Given the description of an element on the screen output the (x, y) to click on. 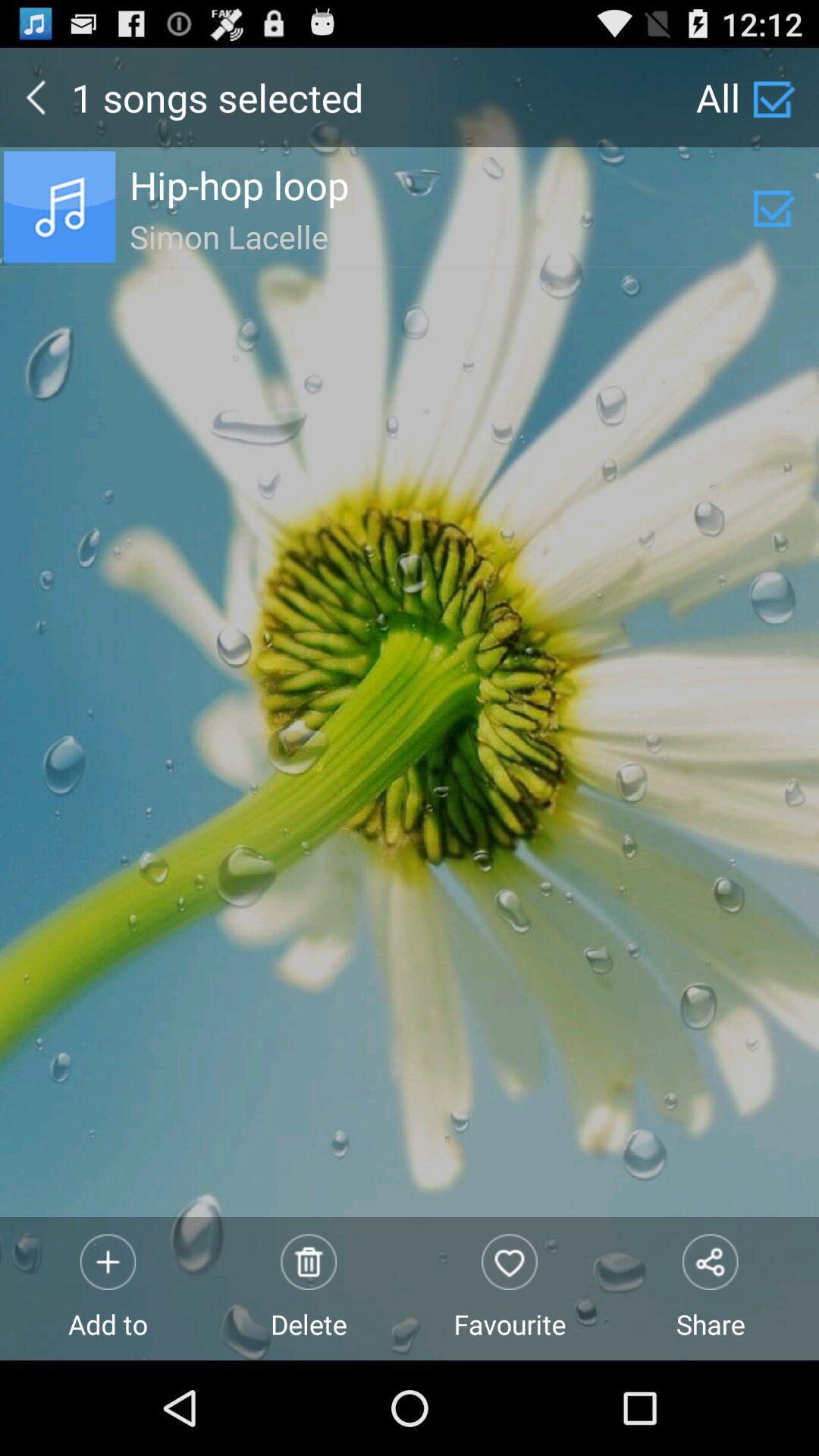
scroll until add to (107, 1288)
